Given the description of an element on the screen output the (x, y) to click on. 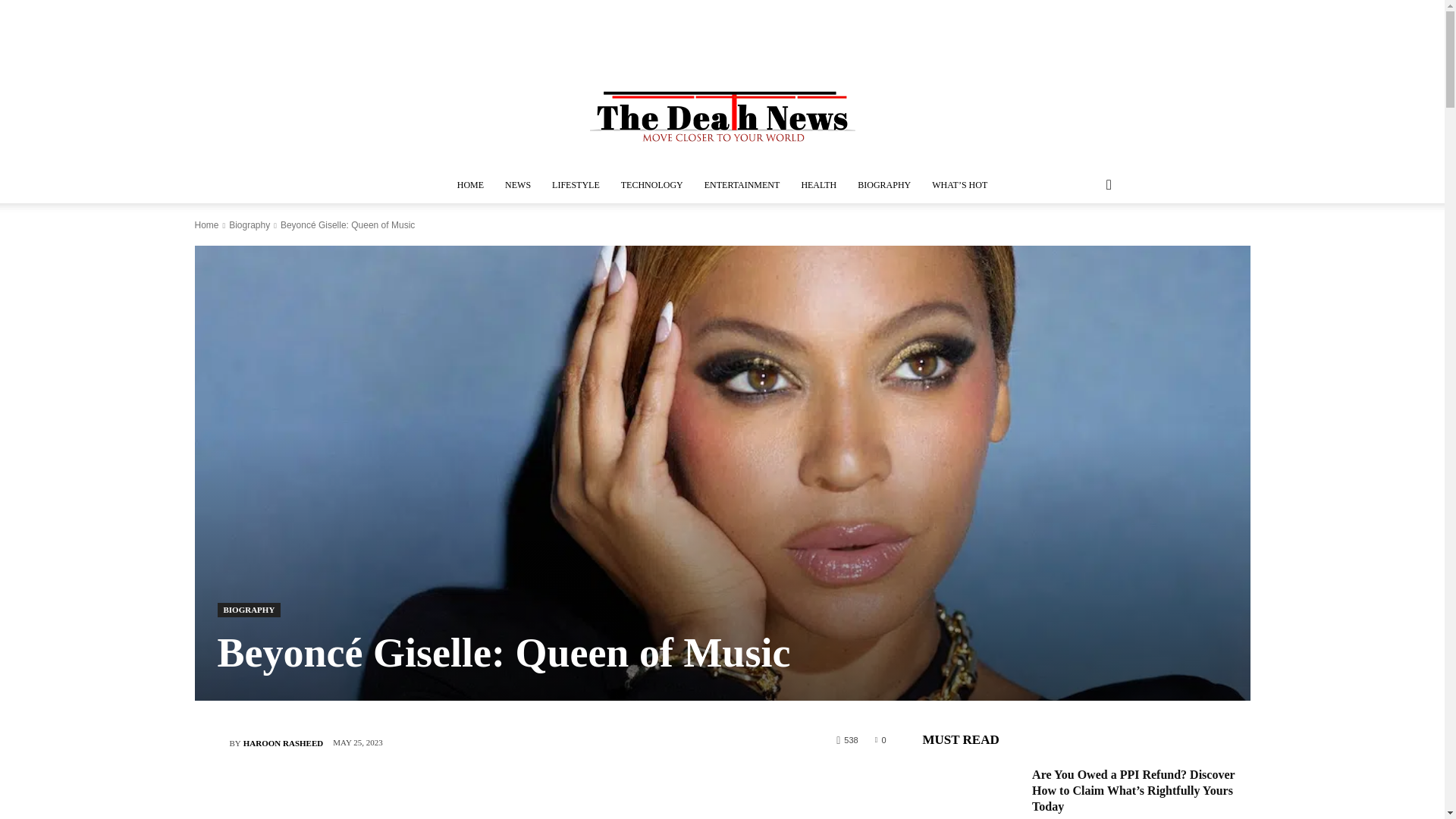
HEALTH (818, 185)
ENTERTAINMENT (742, 185)
LIFESTYLE (575, 185)
TECHNOLOGY (652, 185)
NEWS (518, 185)
BIOGRAPHY (884, 185)
HOME (470, 185)
